Given the description of an element on the screen output the (x, y) to click on. 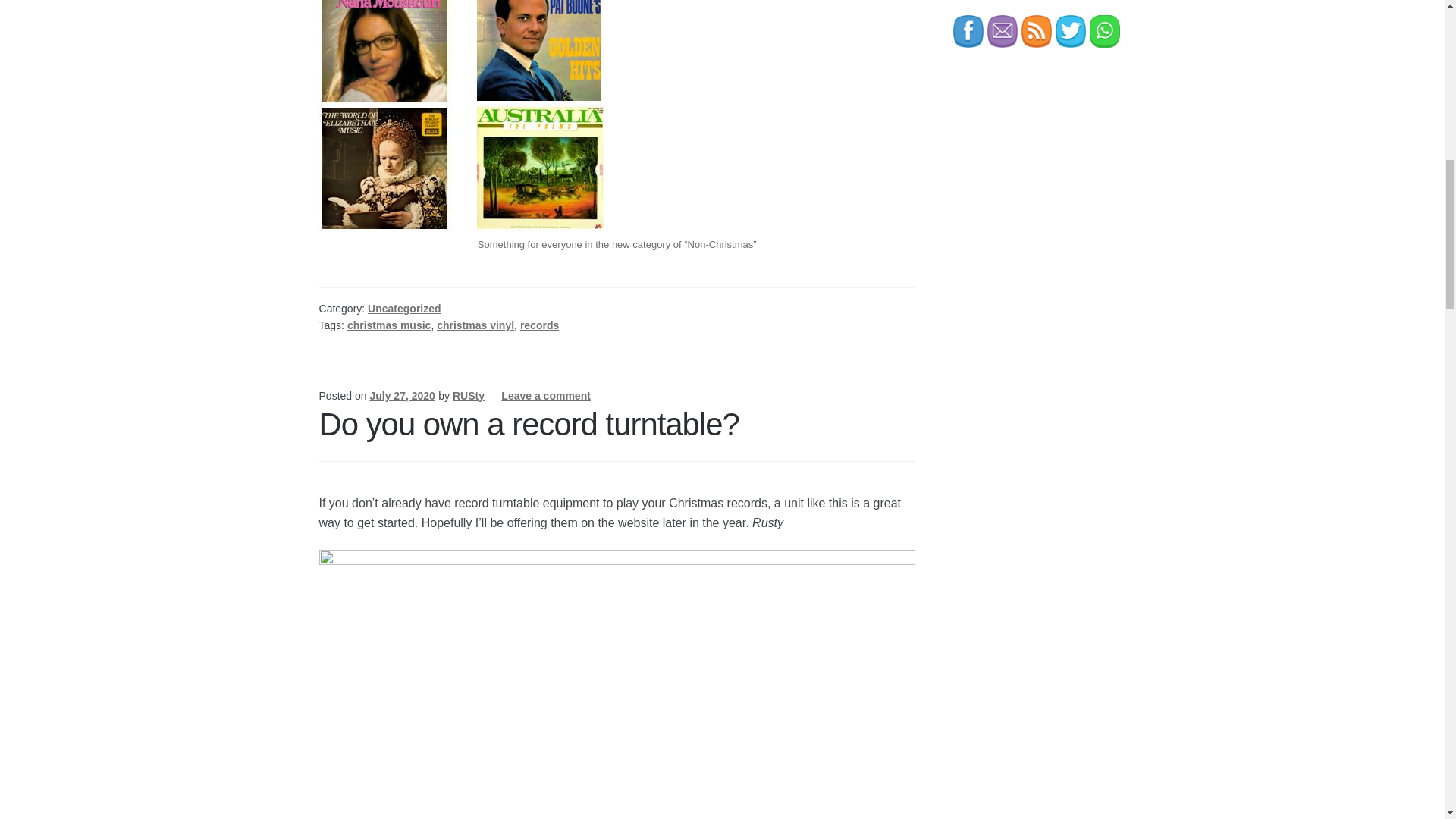
christmas music (388, 325)
christmas vinyl (474, 325)
July 27, 2020 (401, 395)
RSS (1036, 31)
RUSty (468, 395)
Twitter (1070, 31)
Follow by Email (1002, 31)
records (539, 325)
Facebook (968, 31)
Leave a comment (545, 395)
